Given the description of an element on the screen output the (x, y) to click on. 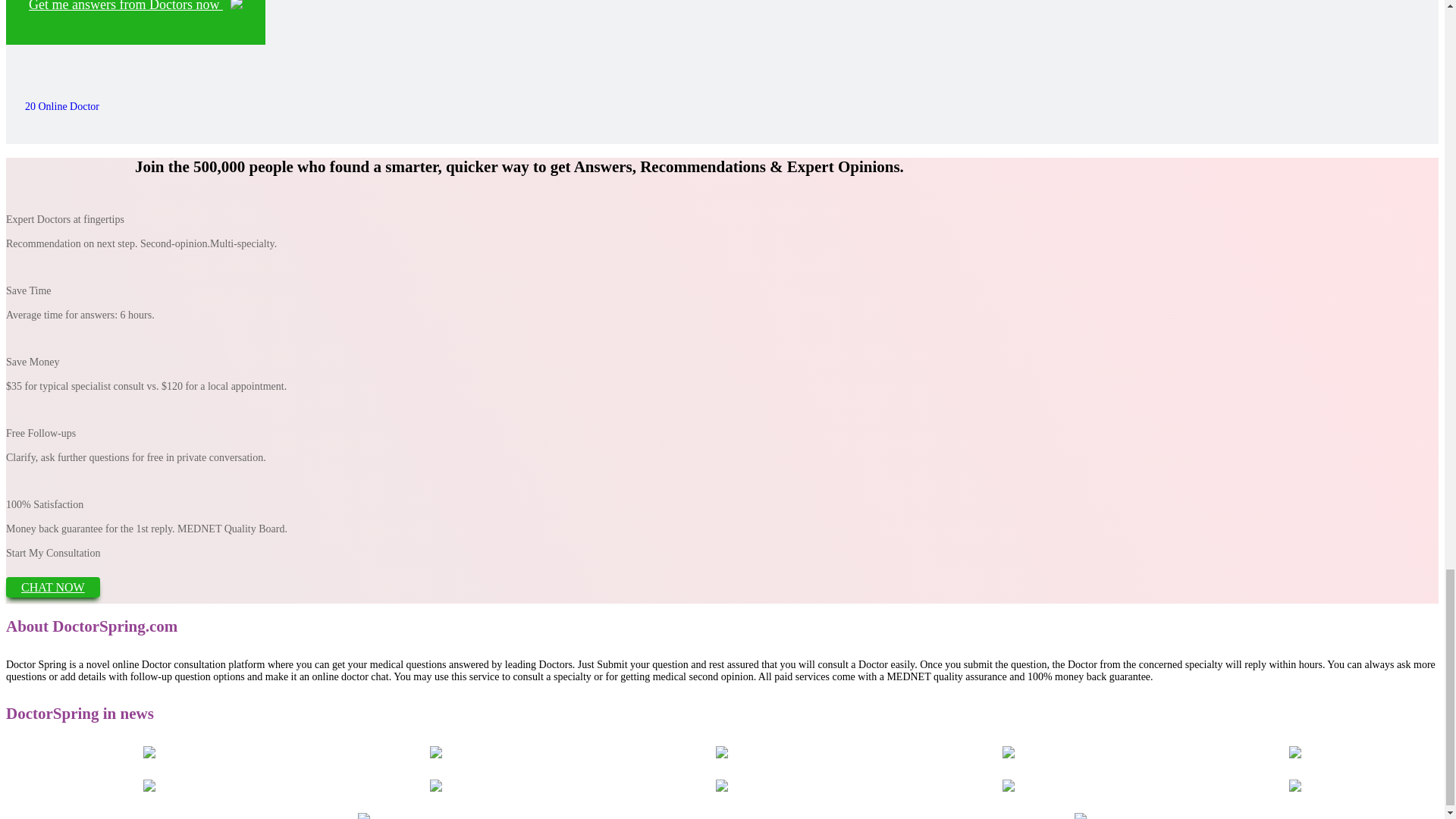
Ask a Doctor now (134, 22)
CHAT NOW (52, 587)
Get me answers from Doctors now (134, 22)
20 Online Doctor (58, 106)
